Given the description of an element on the screen output the (x, y) to click on. 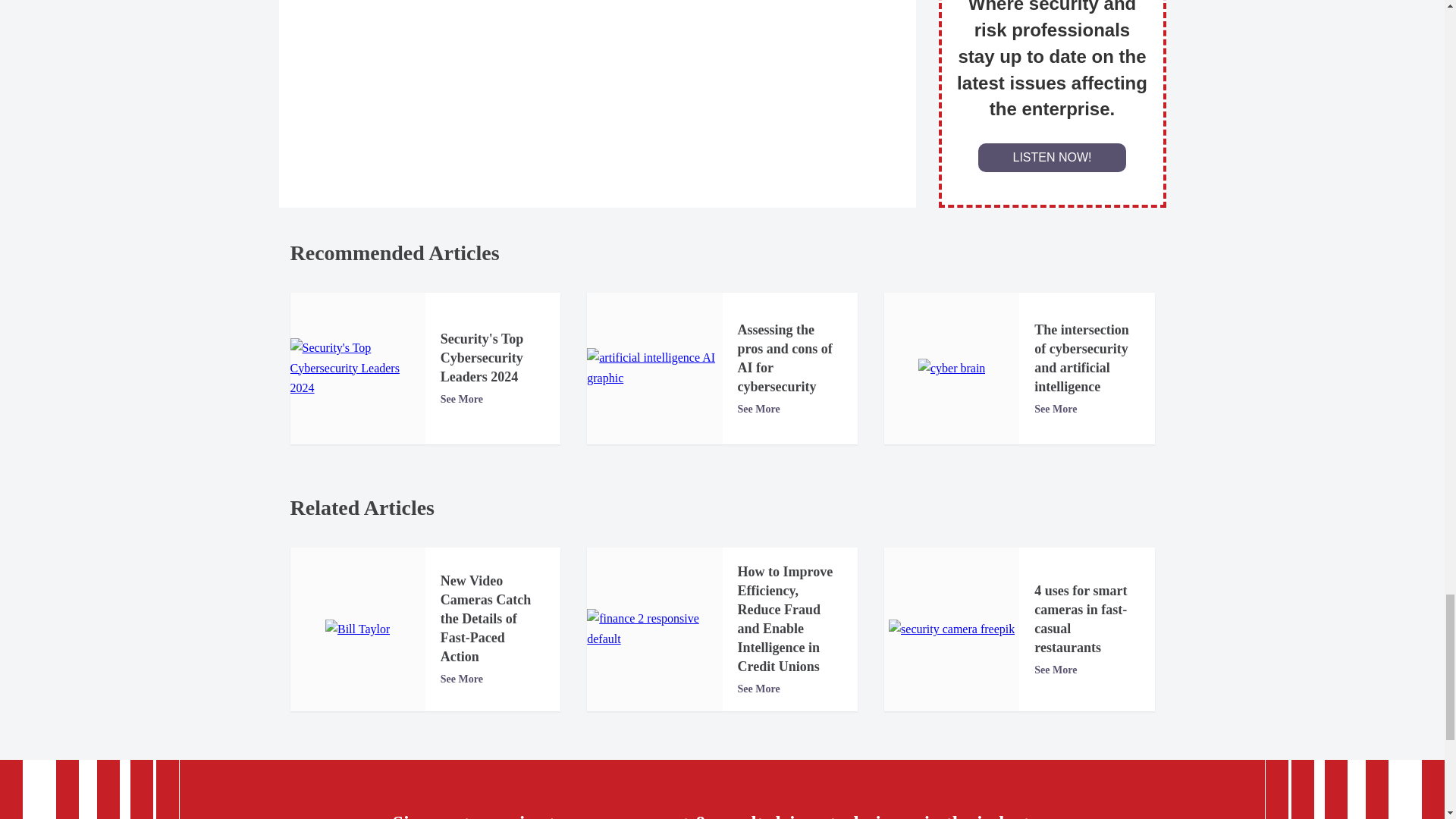
Security's Top Cybersecurity Leaders 2024 (357, 368)
cyber brain (951, 368)
Artificial Intelligence (654, 368)
finance 2 responsive default (654, 629)
Bill Taylor (357, 629)
